Given the description of an element on the screen output the (x, y) to click on. 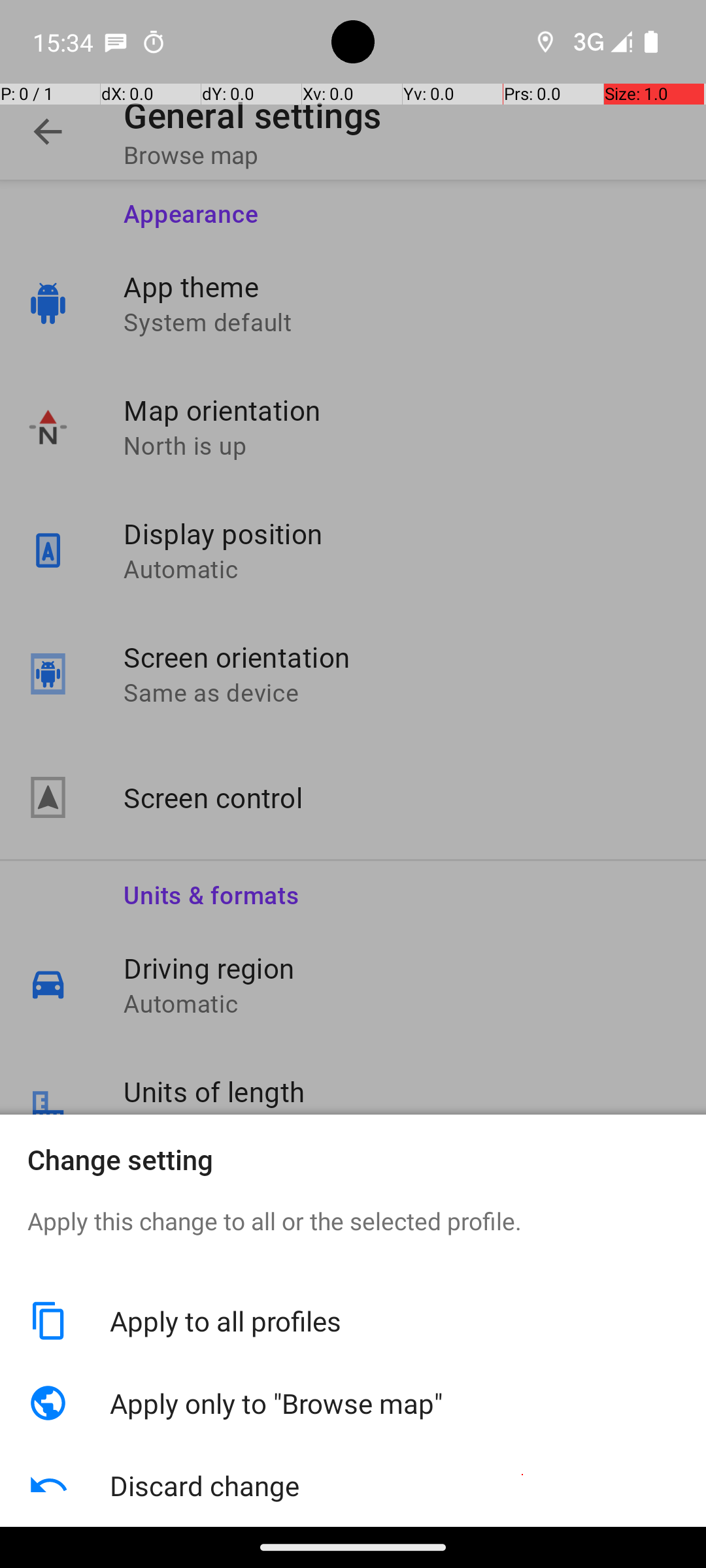
Change setting Element type: android.widget.TextView (353, 1159)
Apply this change to all or the selected profile. Element type: android.widget.TextView (353, 1241)
Apply to all profiles Element type: android.widget.TextView (393, 1320)
Apply only to "Browse map" Element type: android.widget.TextView (393, 1402)
Discard change Element type: android.widget.TextView (393, 1484)
SMS Messenger notification: +17247648679 Element type: android.widget.ImageView (115, 41)
